Given the description of an element on the screen output the (x, y) to click on. 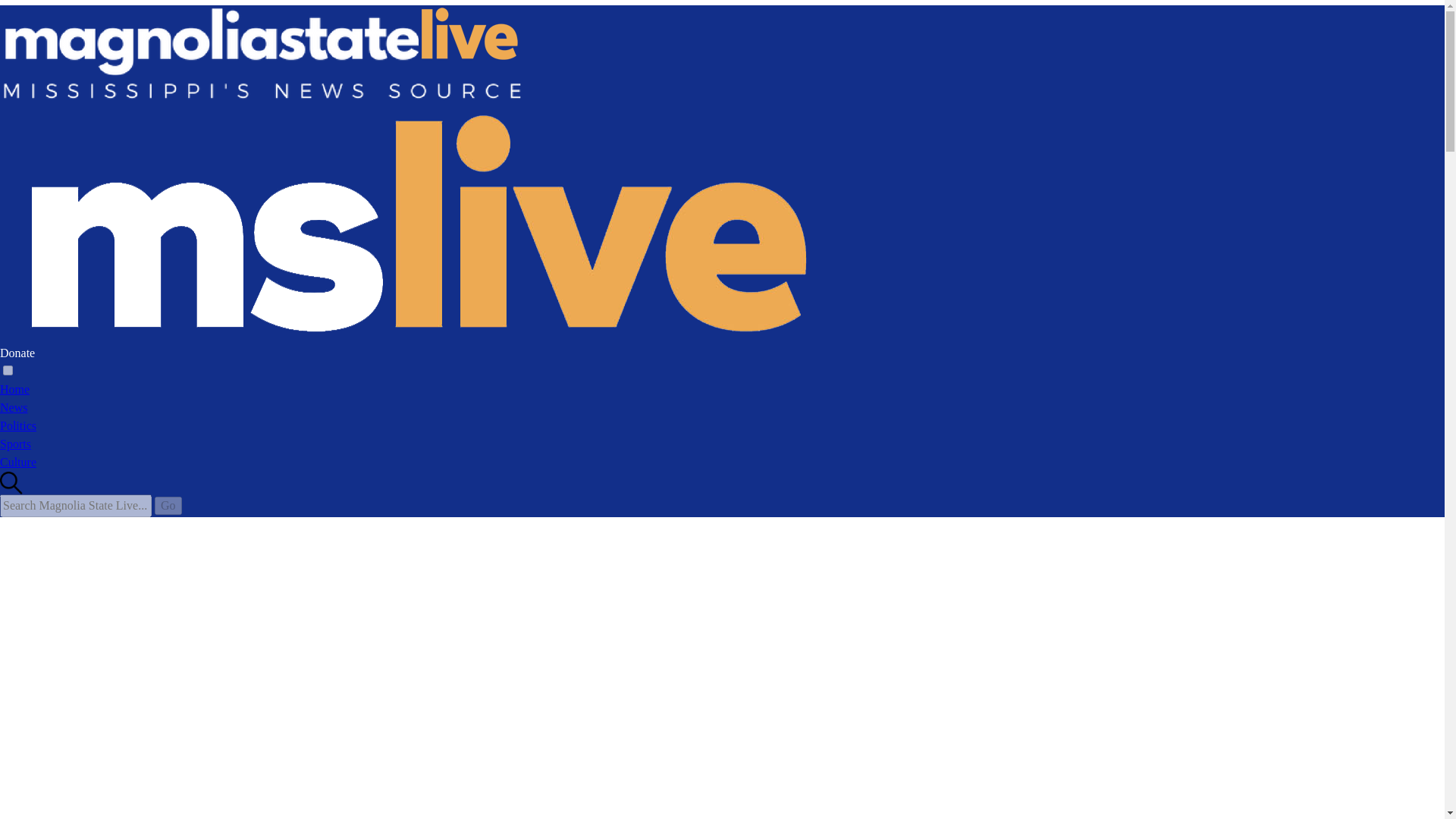
News (13, 407)
Culture (18, 461)
Donate (17, 352)
Politics (18, 425)
Home (14, 389)
Go (168, 505)
on (7, 370)
Go (168, 505)
Go (168, 505)
Sports (15, 443)
